Given the description of an element on the screen output the (x, y) to click on. 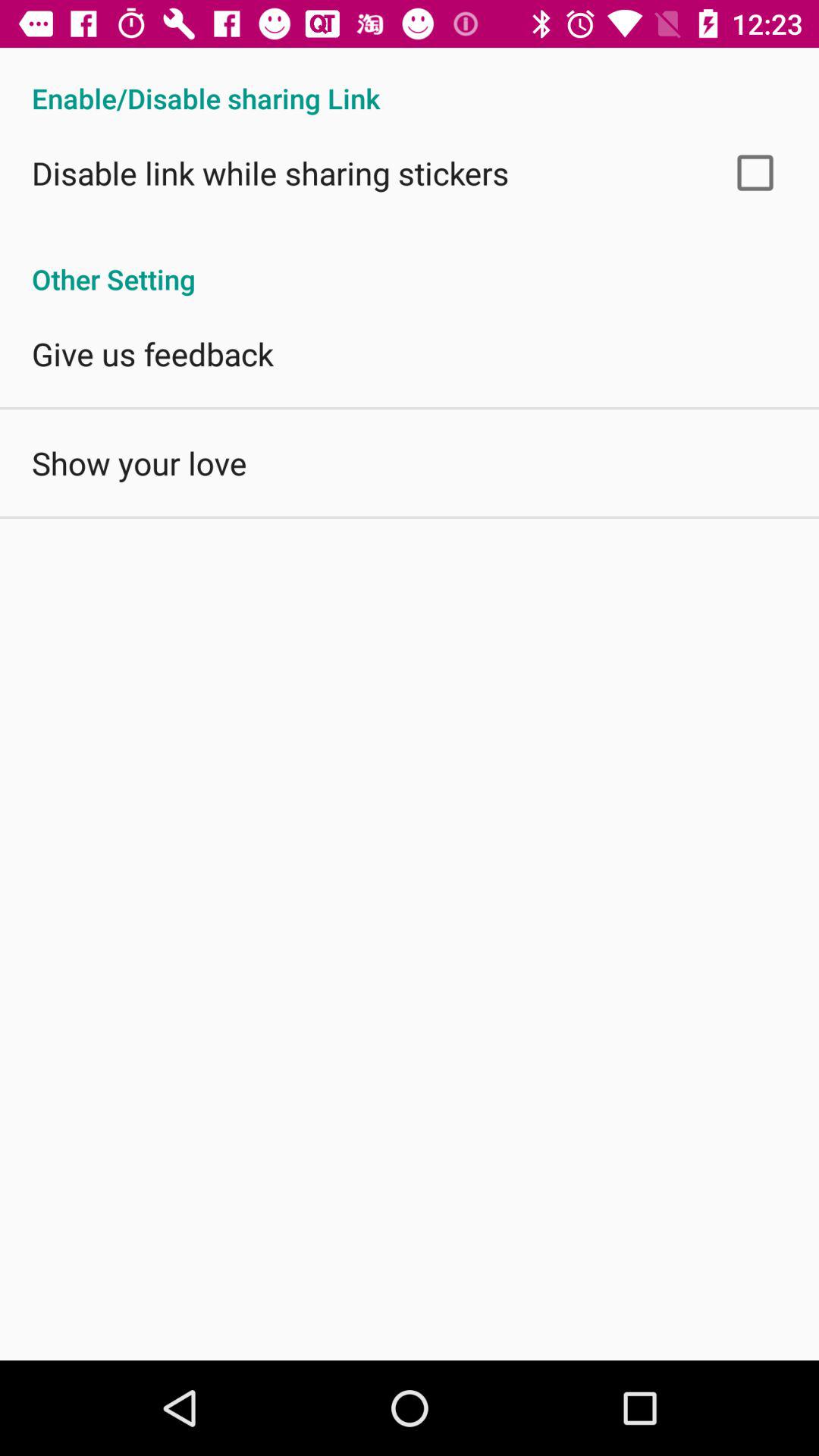
choose the give us feedback app (152, 353)
